Given the description of an element on the screen output the (x, y) to click on. 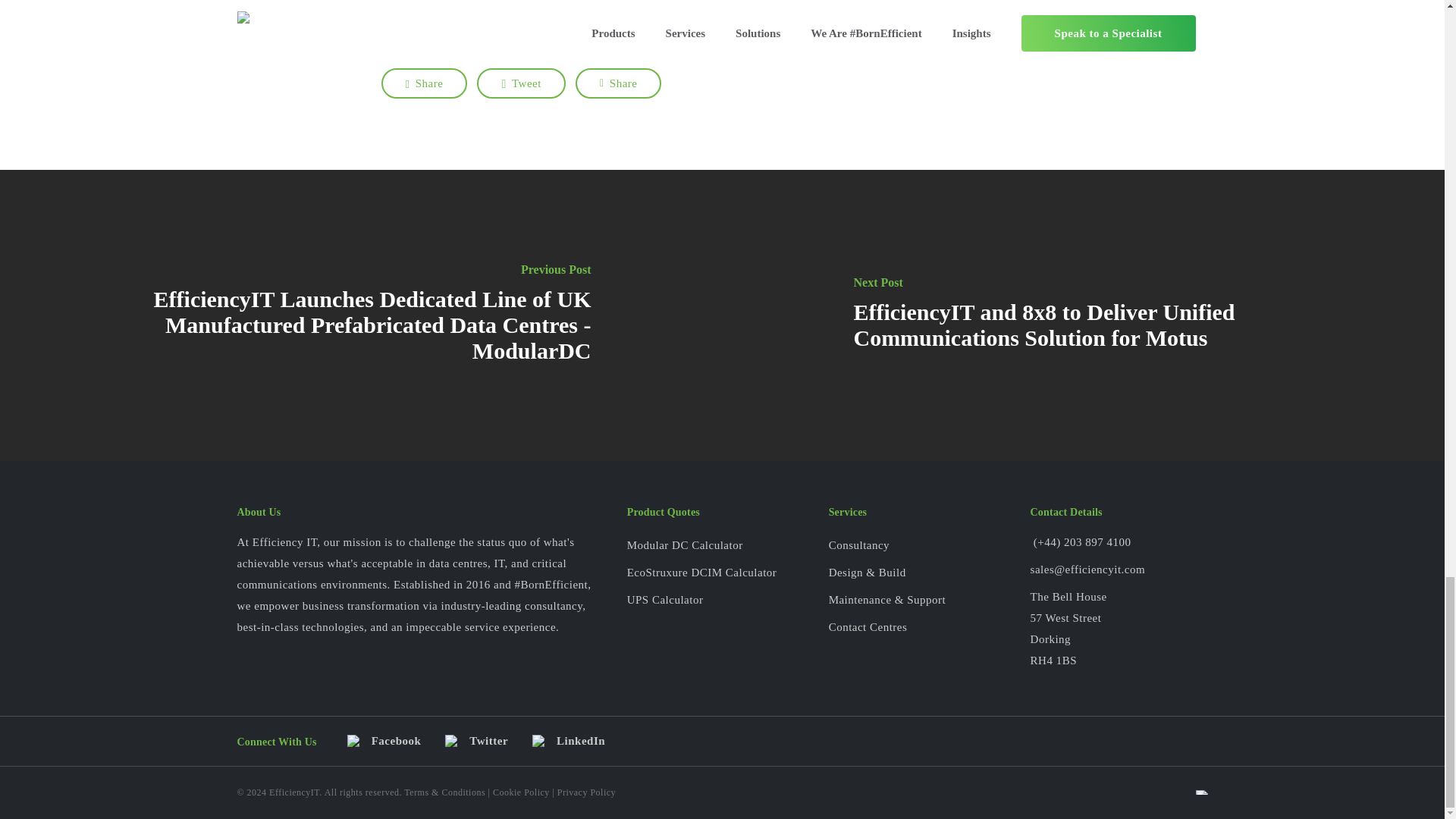
Share this (618, 82)
Tweet this (521, 82)
Share this (423, 82)
